Given the description of an element on the screen output the (x, y) to click on. 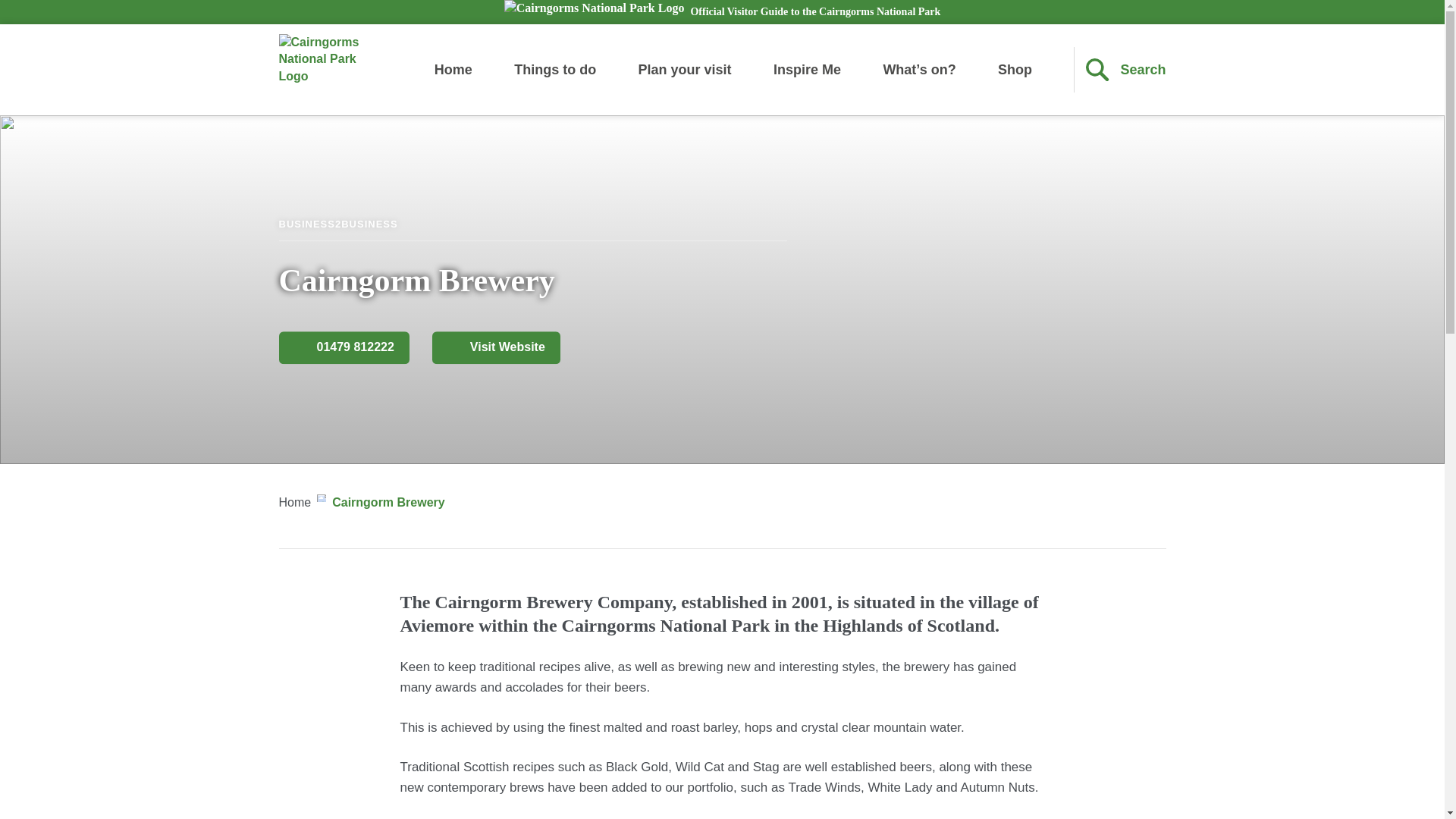
Things to do (554, 69)
